Given the description of an element on the screen output the (x, y) to click on. 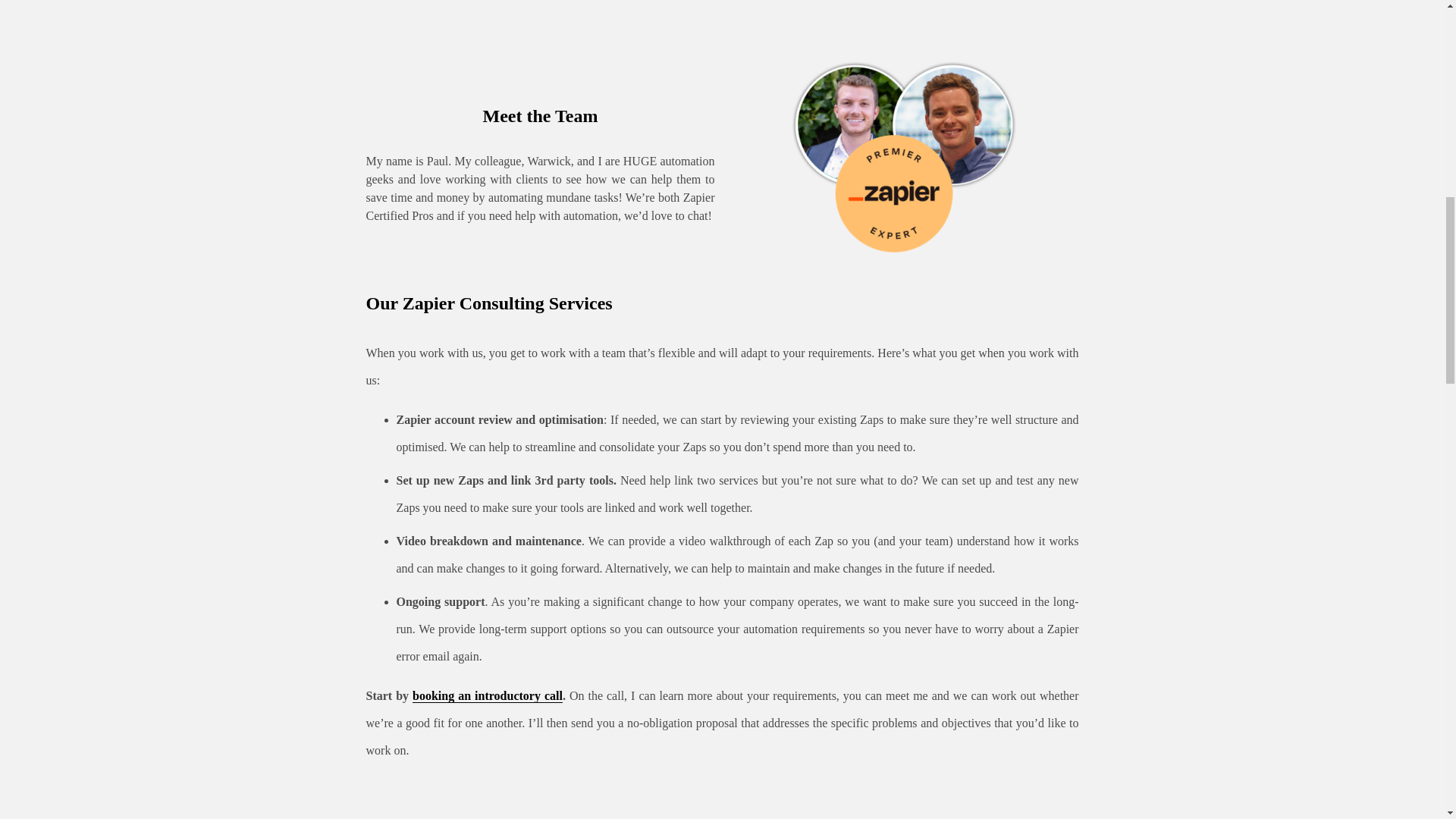
booking an introductory call (487, 695)
